Given the description of an element on the screen output the (x, y) to click on. 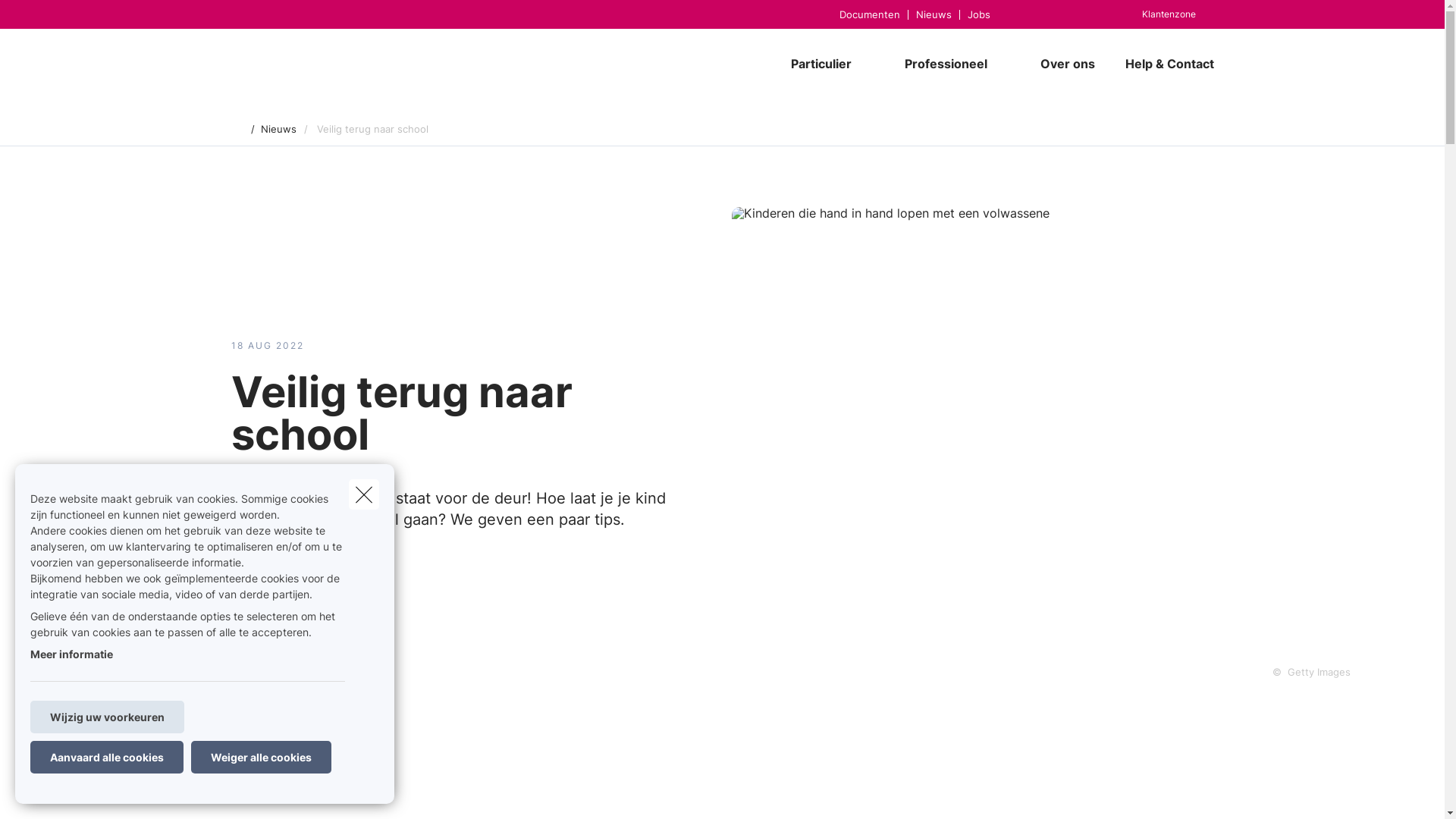
Klantenzone Element type: text (1159, 14)
Wijzig uw voorkeuren Element type: text (107, 716)
Help & Contact Element type: text (1162, 63)
Jobs Element type: text (977, 13)
Weiger alle cookies Element type: text (261, 756)
Documenten Element type: text (868, 13)
Zoeken Element type: text (42, 18)
Aanvaard alle cookies Element type: text (106, 756)
Particulier Element type: text (814, 63)
Nieuws Element type: text (932, 13)
Klantenzone Element type: text (1168, 14)
Over ons Element type: text (1067, 63)
Meer informatie Element type: text (71, 653)
Professioneel Element type: text (939, 63)
/
Nieuws Element type: text (272, 129)
